Given the description of an element on the screen output the (x, y) to click on. 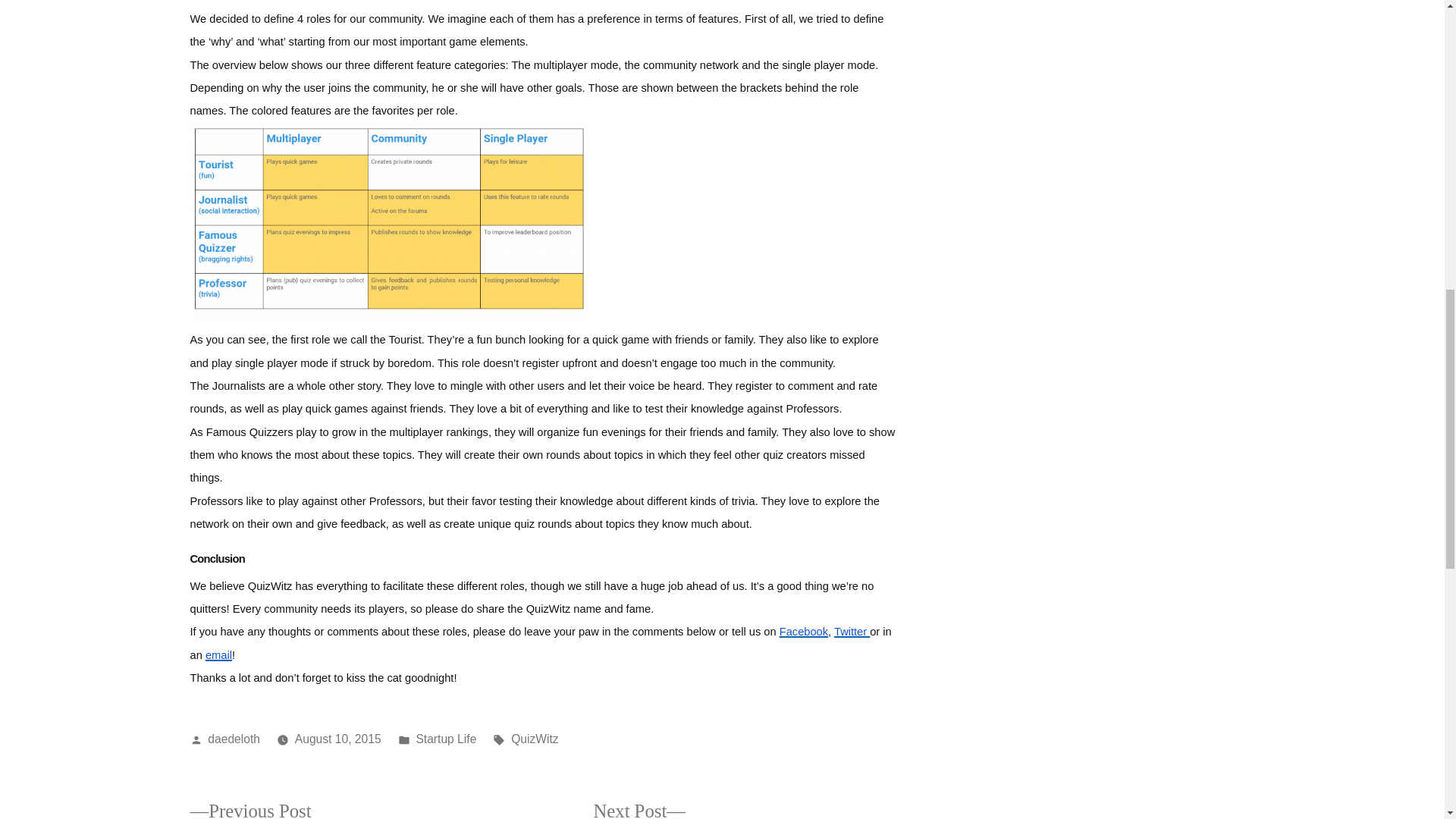
Startup Life (445, 738)
Facebook (803, 629)
Twitter  (851, 629)
August 10, 2015 (338, 738)
email (218, 653)
QuizWitz (708, 809)
daedeloth (535, 738)
